Given the description of an element on the screen output the (x, y) to click on. 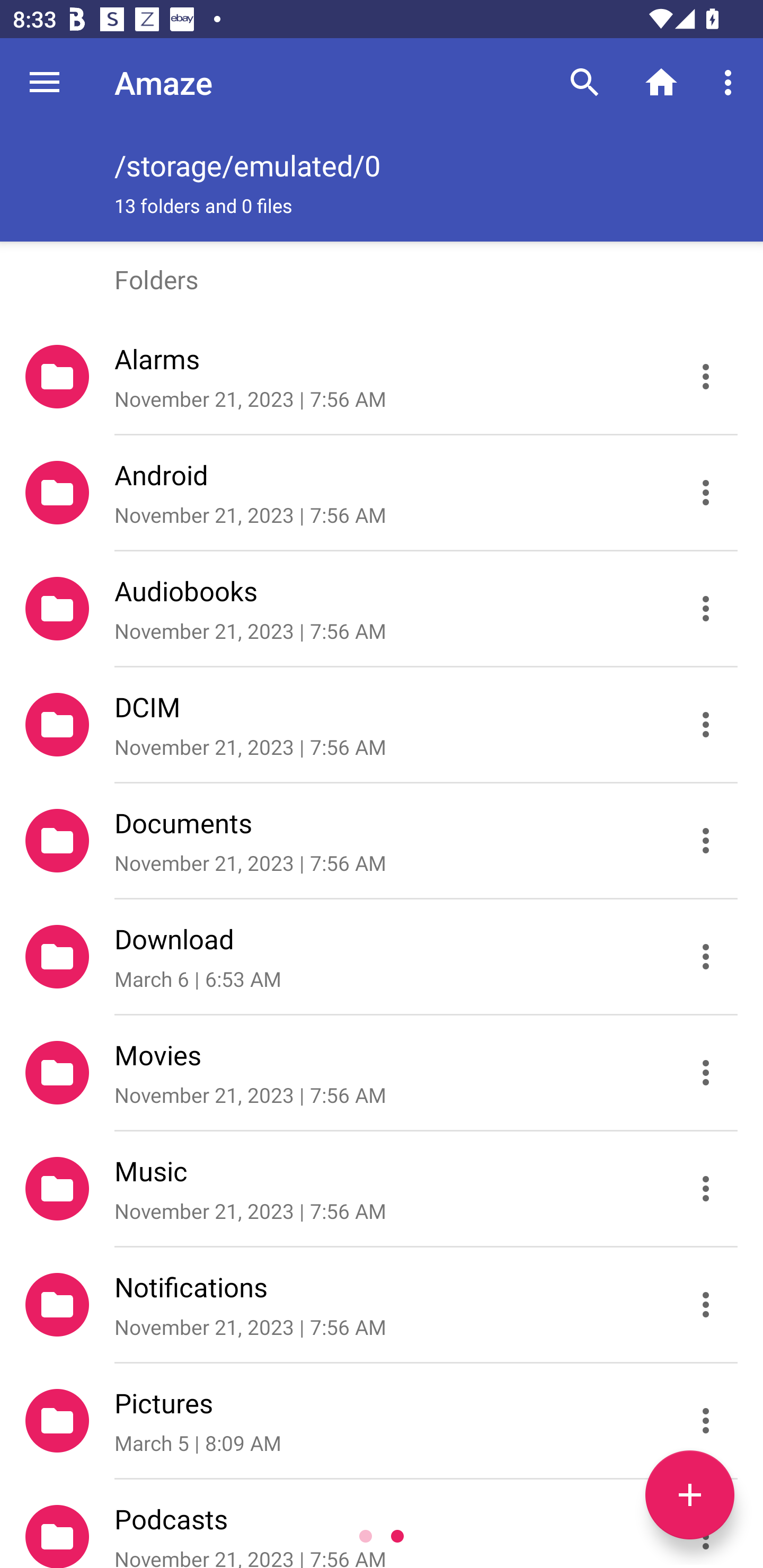
Navigate up (44, 82)
Search (585, 81)
Home (661, 81)
More options (731, 81)
Alarms November 21, 2023 | 7:56 AM (381, 376)
Android November 21, 2023 | 7:56 AM (381, 492)
Audiobooks November 21, 2023 | 7:56 AM (381, 608)
DCIM November 21, 2023 | 7:56 AM (381, 724)
Documents November 21, 2023 | 7:56 AM (381, 841)
Download March 6 | 6:53 AM (381, 957)
Movies November 21, 2023 | 7:56 AM (381, 1073)
Music November 21, 2023 | 7:56 AM (381, 1189)
Notifications November 21, 2023 | 7:56 AM (381, 1305)
Pictures March 5 | 8:09 AM (381, 1421)
Podcasts November 21, 2023 | 7:56 AM (381, 1524)
